Given the description of an element on the screen output the (x, y) to click on. 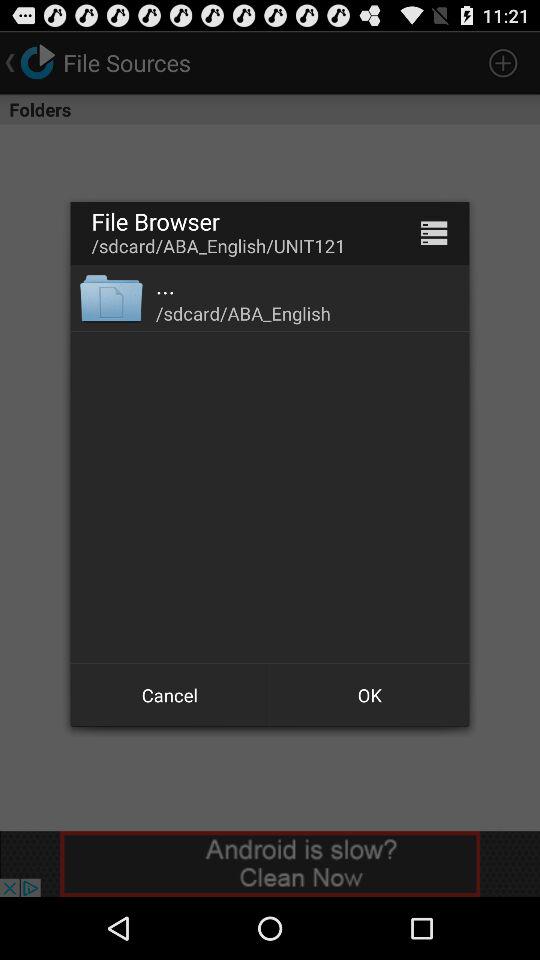
flip until cancel icon (169, 694)
